Given the description of an element on the screen output the (x, y) to click on. 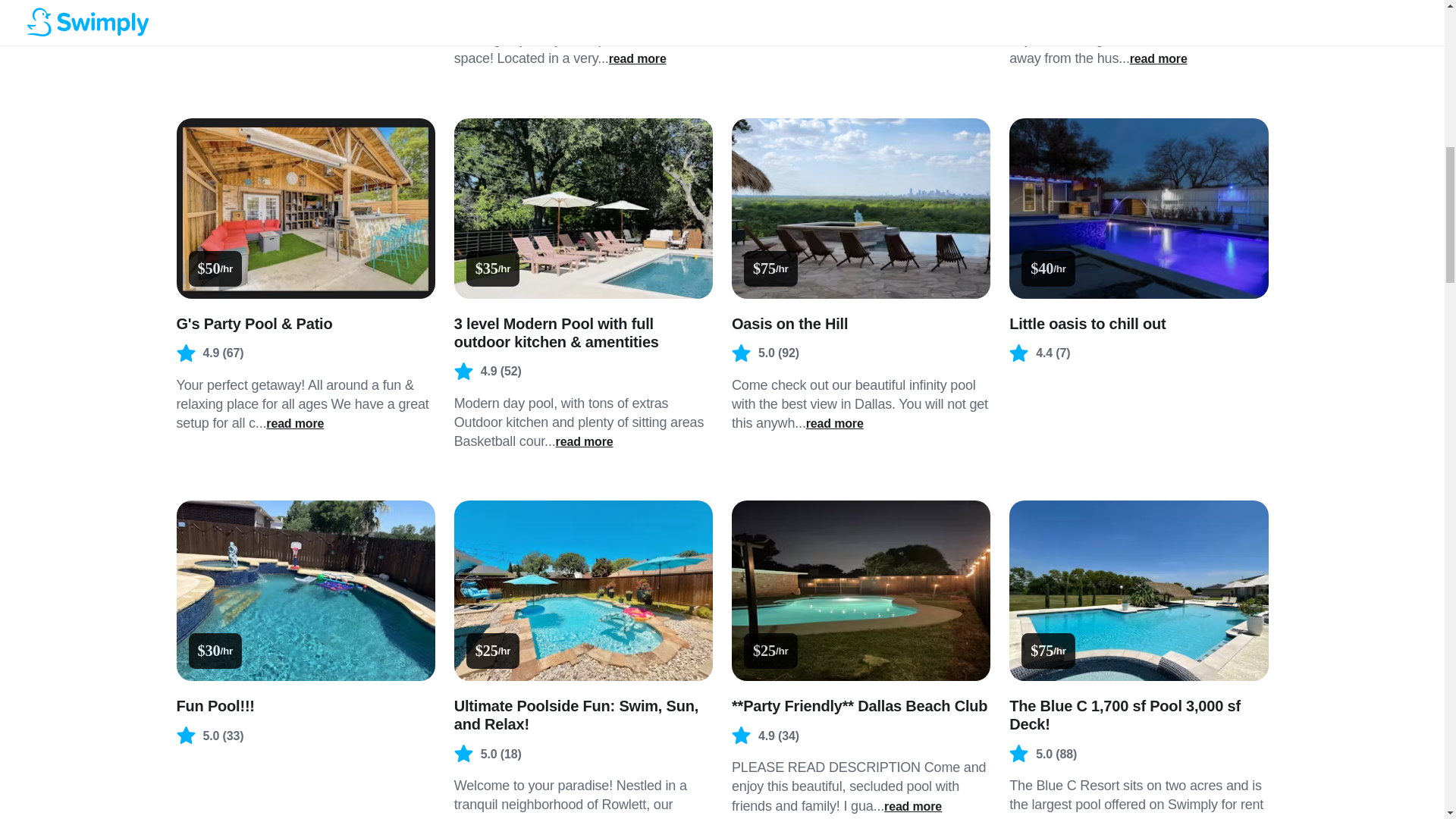
read more (1158, 58)
read more (637, 58)
read more (912, 806)
read more (334, 29)
read more (584, 442)
read more (617, 817)
read more (294, 423)
read more (1103, 817)
read more (834, 423)
